Given the description of an element on the screen output the (x, y) to click on. 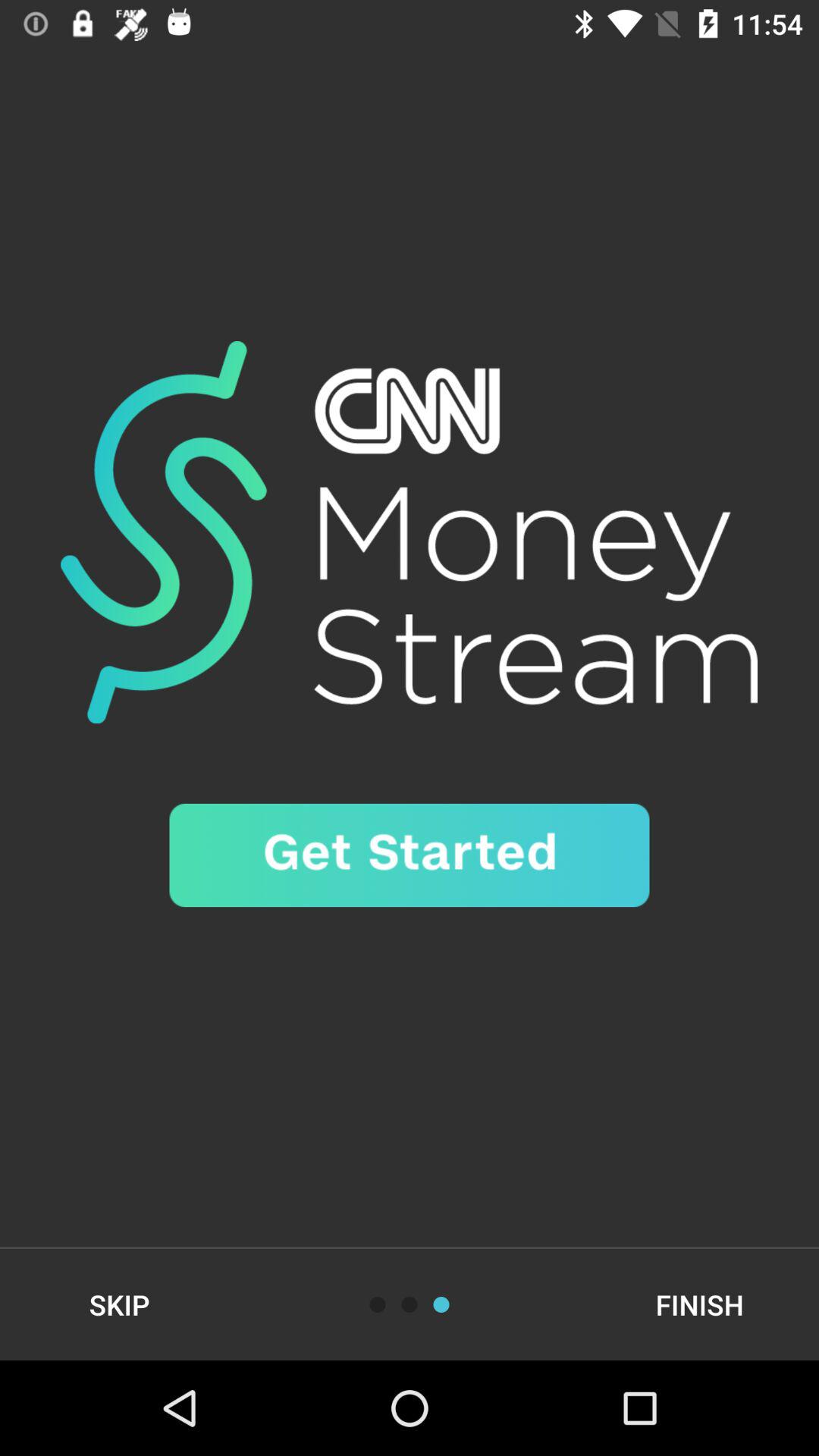
loading (441, 1304)
